Given the description of an element on the screen output the (x, y) to click on. 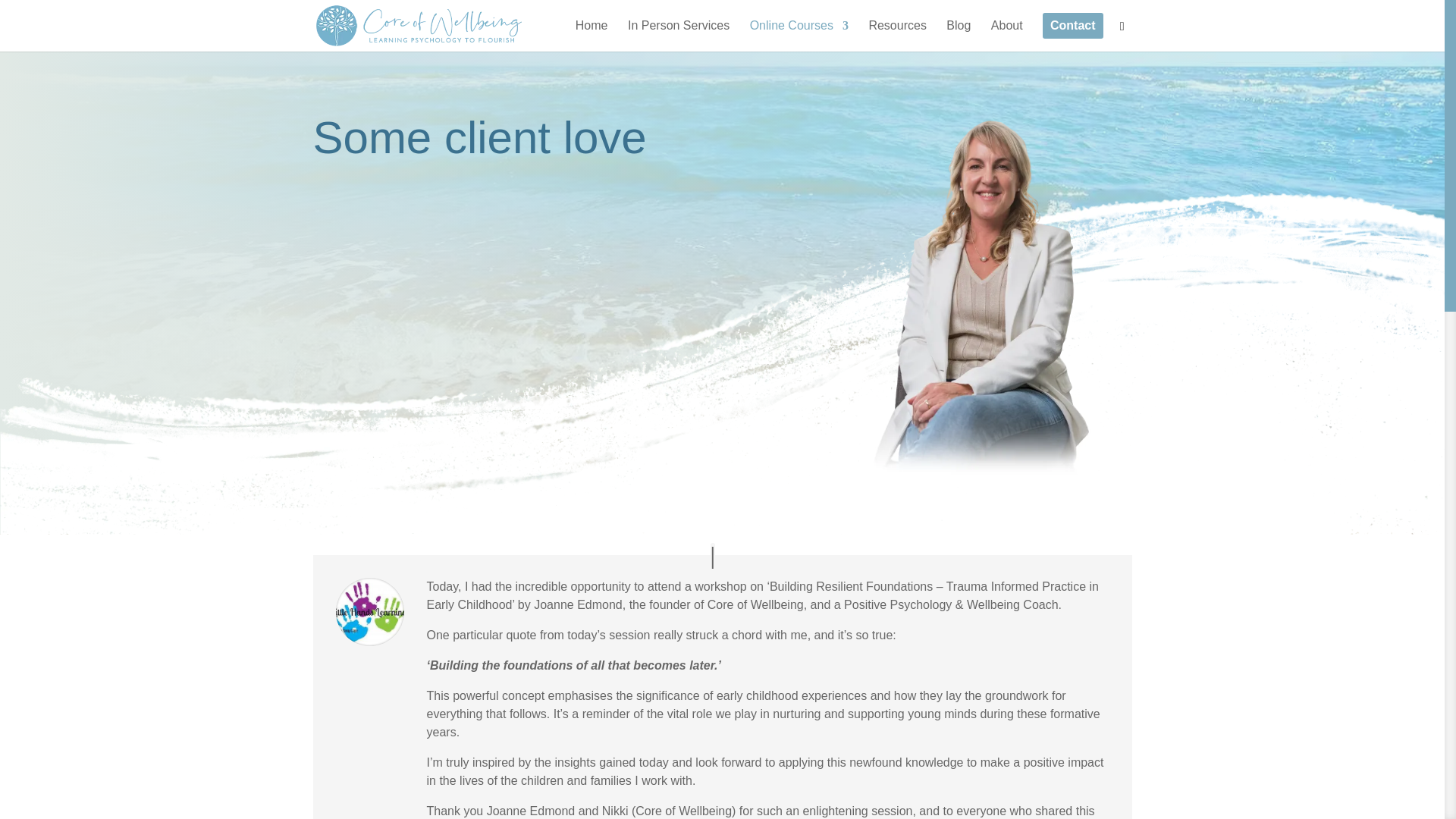
About (1007, 34)
Resources (896, 34)
Home (591, 34)
Contact (1072, 32)
In Person Services (678, 34)
Online Courses (798, 34)
